Given the description of an element on the screen output the (x, y) to click on. 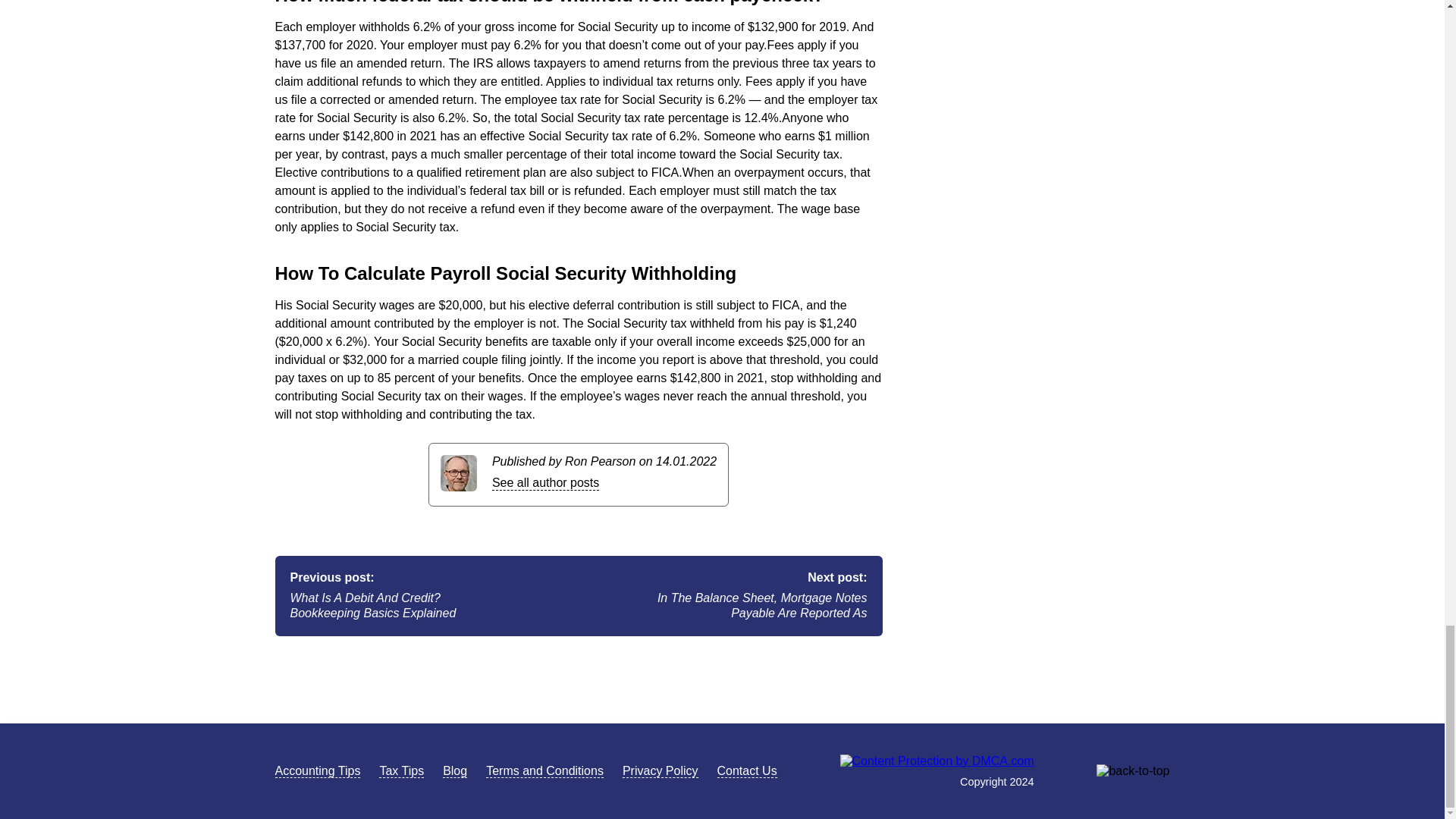
Privacy Policy (660, 771)
Accounting Tips (317, 771)
See all author posts (545, 482)
Contact Us (747, 771)
Tax Tips (400, 771)
Blog (454, 771)
Content Protection by DMCA.com (936, 760)
Terms and Conditions (545, 771)
